Given the description of an element on the screen output the (x, y) to click on. 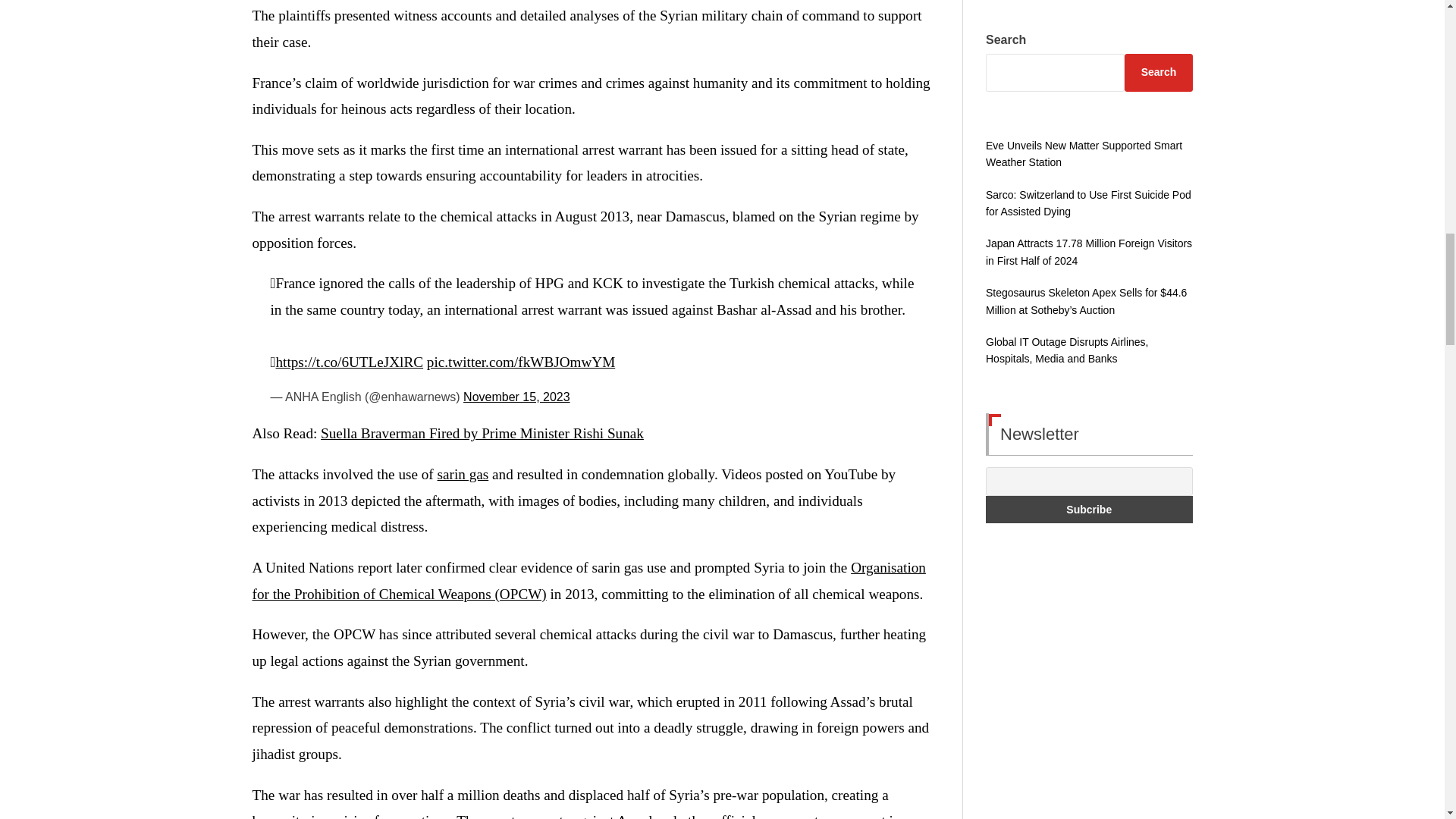
November 15, 2023 (516, 396)
